Given the description of an element on the screen output the (x, y) to click on. 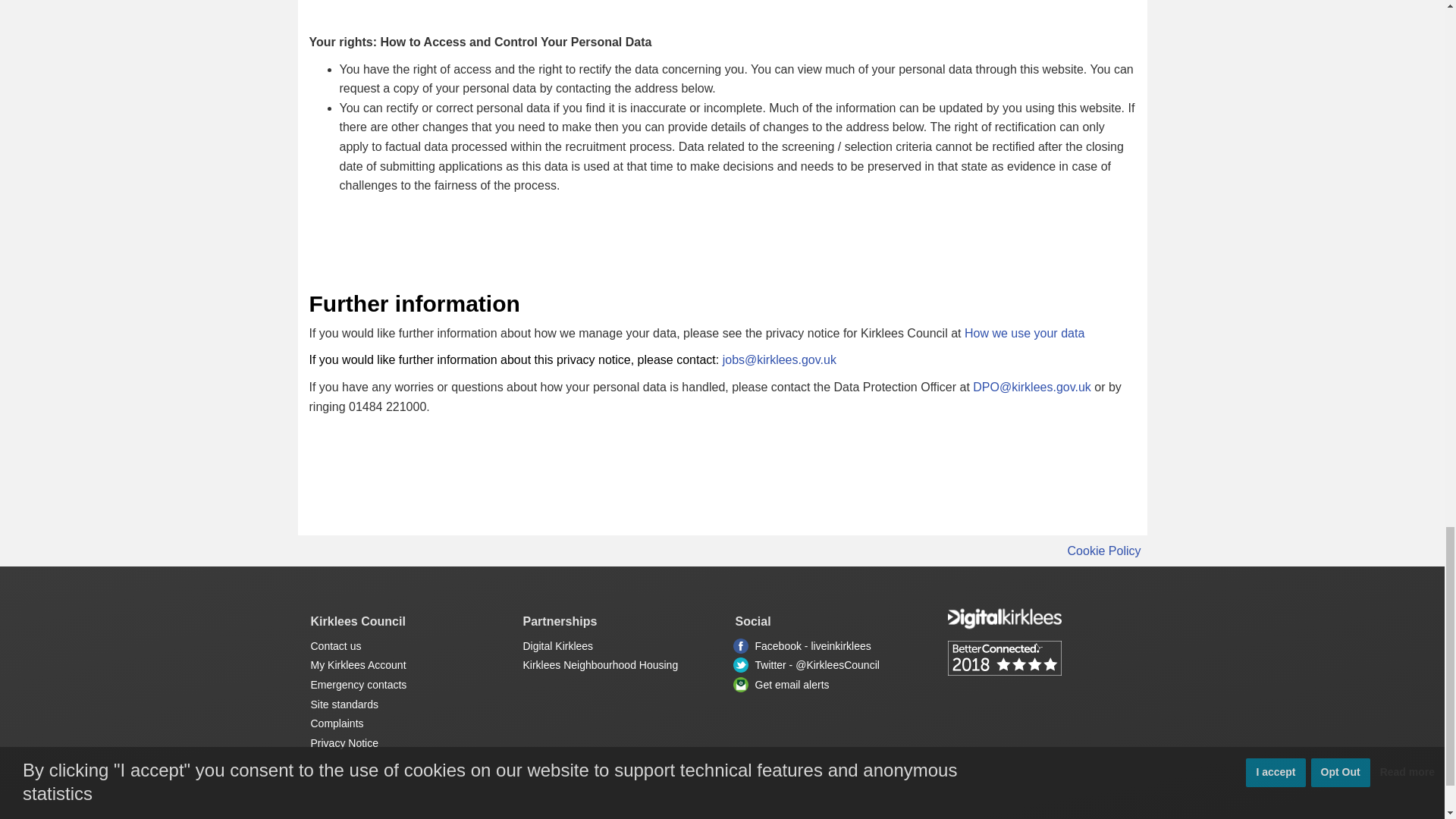
How we use your data (1023, 332)
Complaints (337, 723)
Privacy Notice (344, 743)
Contact the council (336, 645)
My Kirklees Account (358, 664)
Facebook - liveinkirklees (812, 645)
Kirklees Council Facebook (740, 645)
My Kirklees Account (1040, 616)
Kirklees Council Twitter (740, 664)
Compliments and complaints (337, 723)
